Given the description of an element on the screen output the (x, y) to click on. 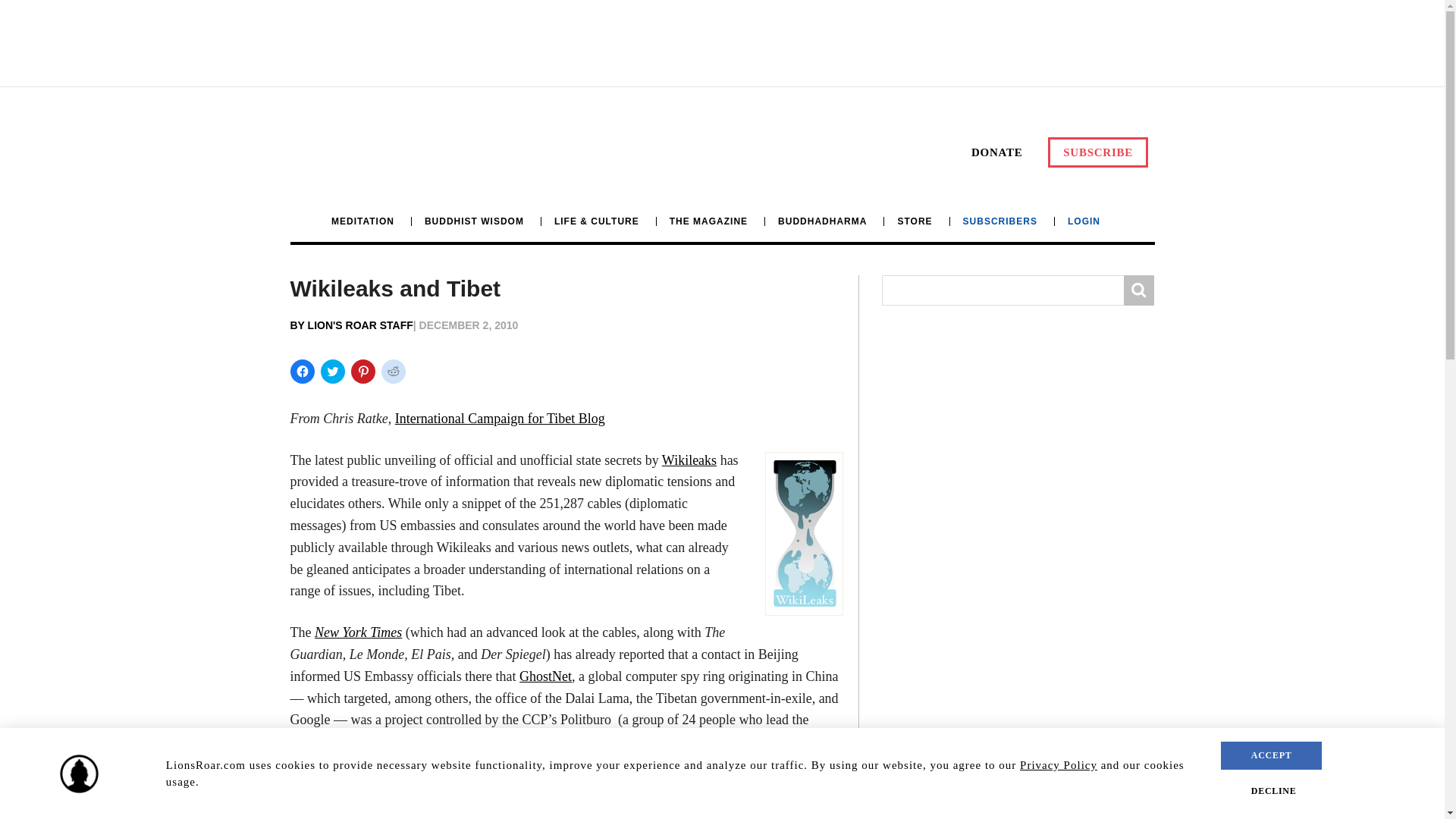
BUDDHIST WISDOM (473, 221)
LION'S ROAR STAFF (360, 325)
THE MAGAZINE (708, 221)
Search (1139, 289)
Posts by Lion's Roar Staff (360, 325)
DONATE (997, 152)
BUDDHADHARMA (821, 221)
Click to share on Facebook (301, 371)
LOGIN (1083, 221)
SUBSCRIBE (1098, 152)
SUBSCRIBERS (999, 221)
STORE (913, 221)
MEDITATION (369, 221)
Click to share on Pinterest (362, 371)
Click to share on Reddit (392, 371)
